Given the description of an element on the screen output the (x, y) to click on. 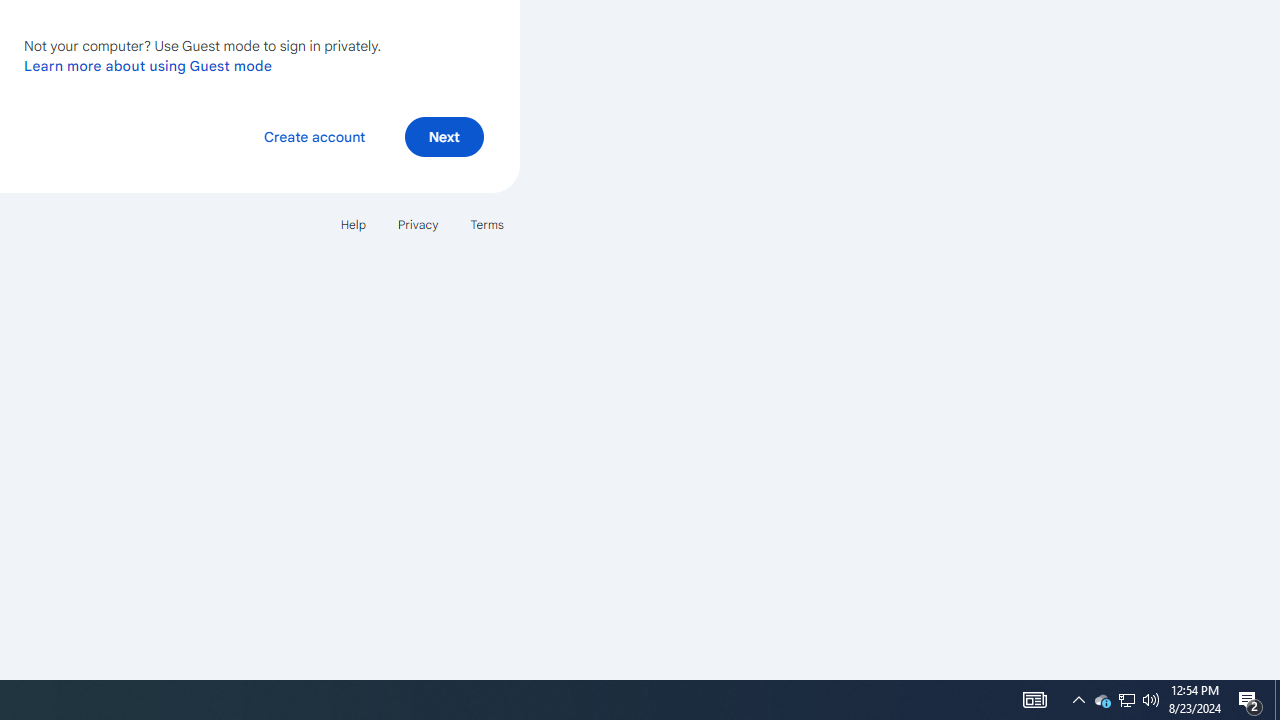
Create account (314, 135)
Learn more about using Guest mode (148, 65)
